Given the description of an element on the screen output the (x, y) to click on. 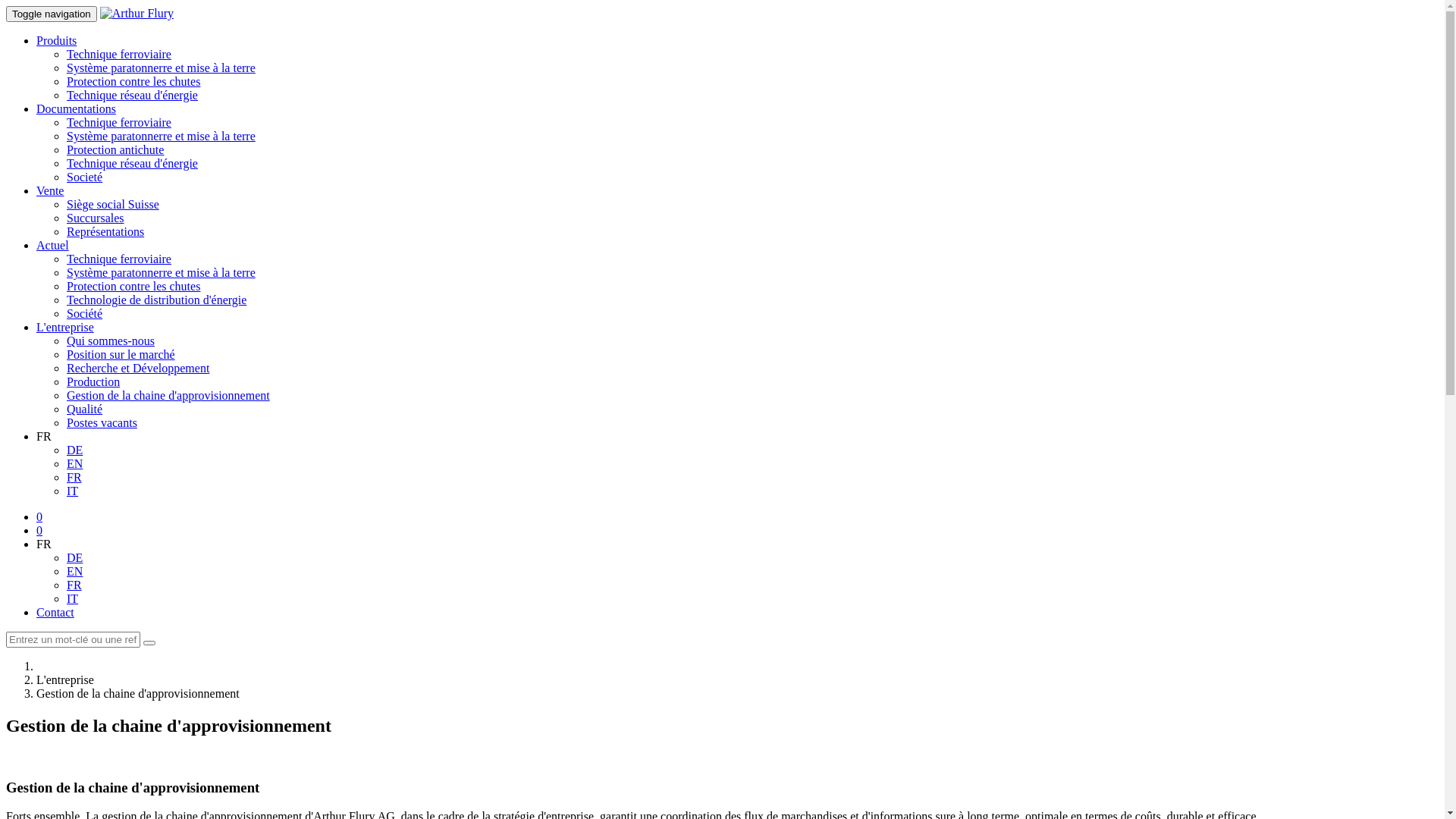
Technique ferroviaire Element type: text (118, 53)
Technique ferroviaire Element type: text (118, 258)
Protection contre les chutes Element type: text (133, 81)
Toggle navigation Element type: text (51, 13)
IT Element type: text (72, 490)
DE Element type: text (74, 449)
Technique ferroviaire Element type: text (118, 122)
Actuel Element type: text (52, 244)
Succursales Element type: text (95, 217)
L'entreprise Element type: text (65, 326)
0 Element type: text (39, 516)
IT Element type: text (72, 598)
Qui sommes-nous Element type: text (110, 340)
Produits Element type: text (56, 40)
Production Element type: text (92, 381)
DE Element type: text (74, 557)
FR Element type: text (43, 435)
0 Element type: text (39, 530)
FR Element type: text (43, 543)
EN Element type: text (74, 570)
Postes vacants Element type: text (101, 422)
FR Element type: text (73, 476)
Vente Element type: text (49, 190)
Arthur Flury Element type: hover (136, 13)
FR Element type: text (73, 584)
Documentations Element type: text (76, 108)
Gestion de la chaine d'approvisionnement Element type: text (167, 395)
Protection antichute Element type: text (114, 149)
EN Element type: text (74, 463)
Protection contre les chutes Element type: text (133, 285)
Contact Element type: text (55, 611)
